Given the description of an element on the screen output the (x, y) to click on. 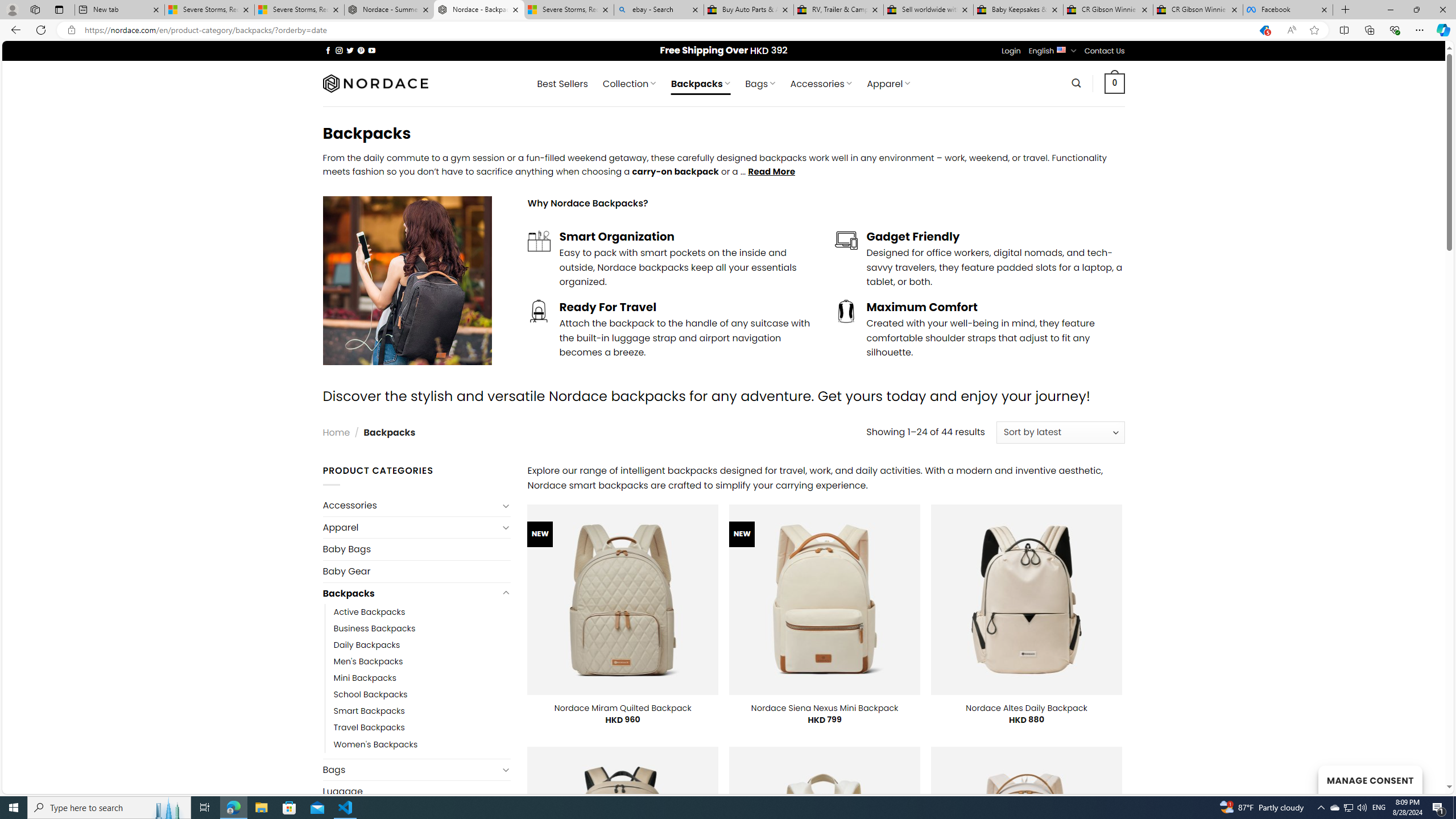
Follow on YouTube (371, 49)
Luggage (416, 791)
Nordace Siena Nexus Mini Backpack (824, 708)
School Backpacks (422, 694)
Login (1010, 50)
This site has coupons! Shopping in Microsoft Edge, 5 (1263, 29)
